Given the description of an element on the screen output the (x, y) to click on. 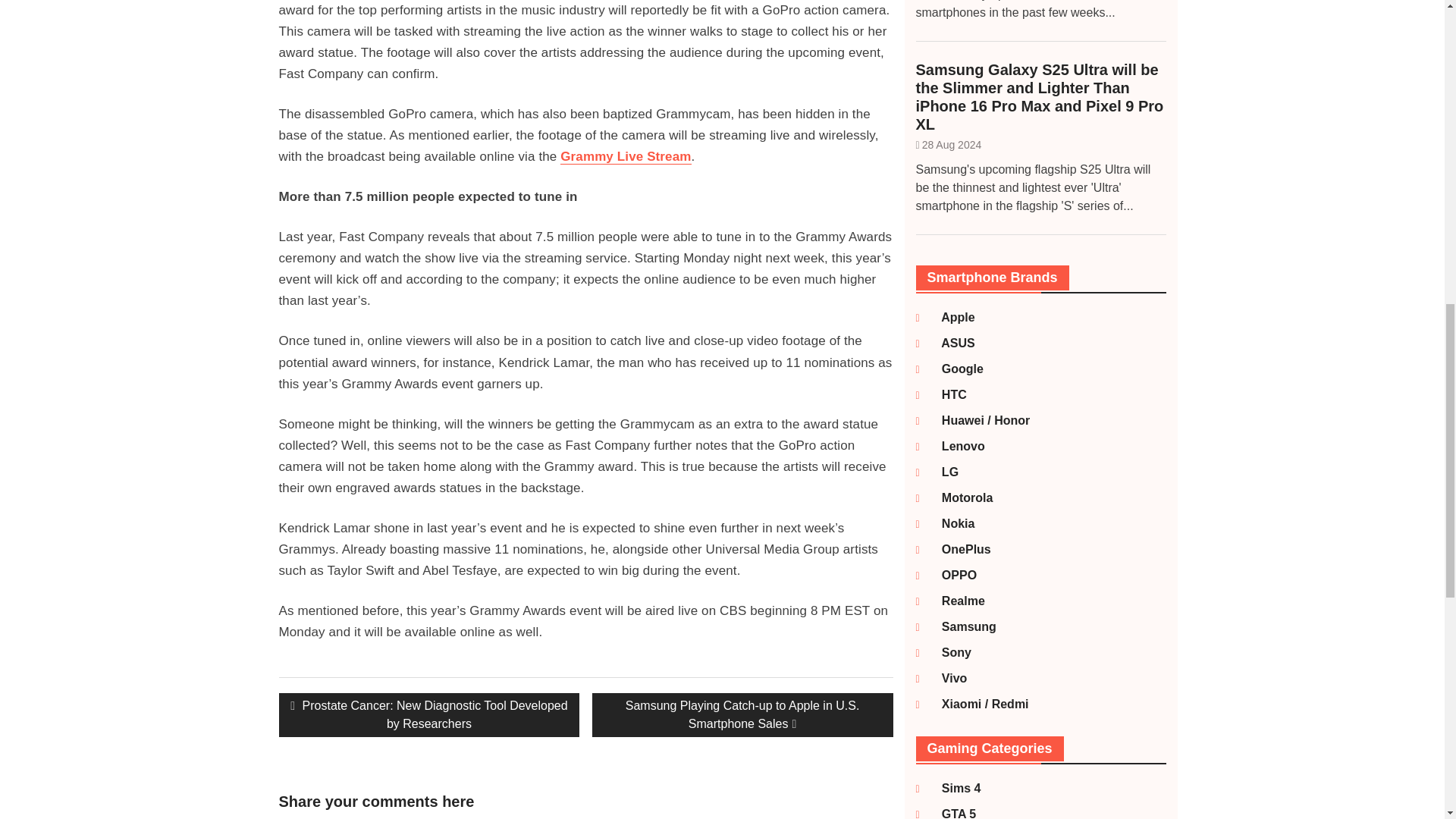
     Apple (949, 317)
Grammy Live Stream (625, 156)
     ASUS (949, 342)
